Given the description of an element on the screen output the (x, y) to click on. 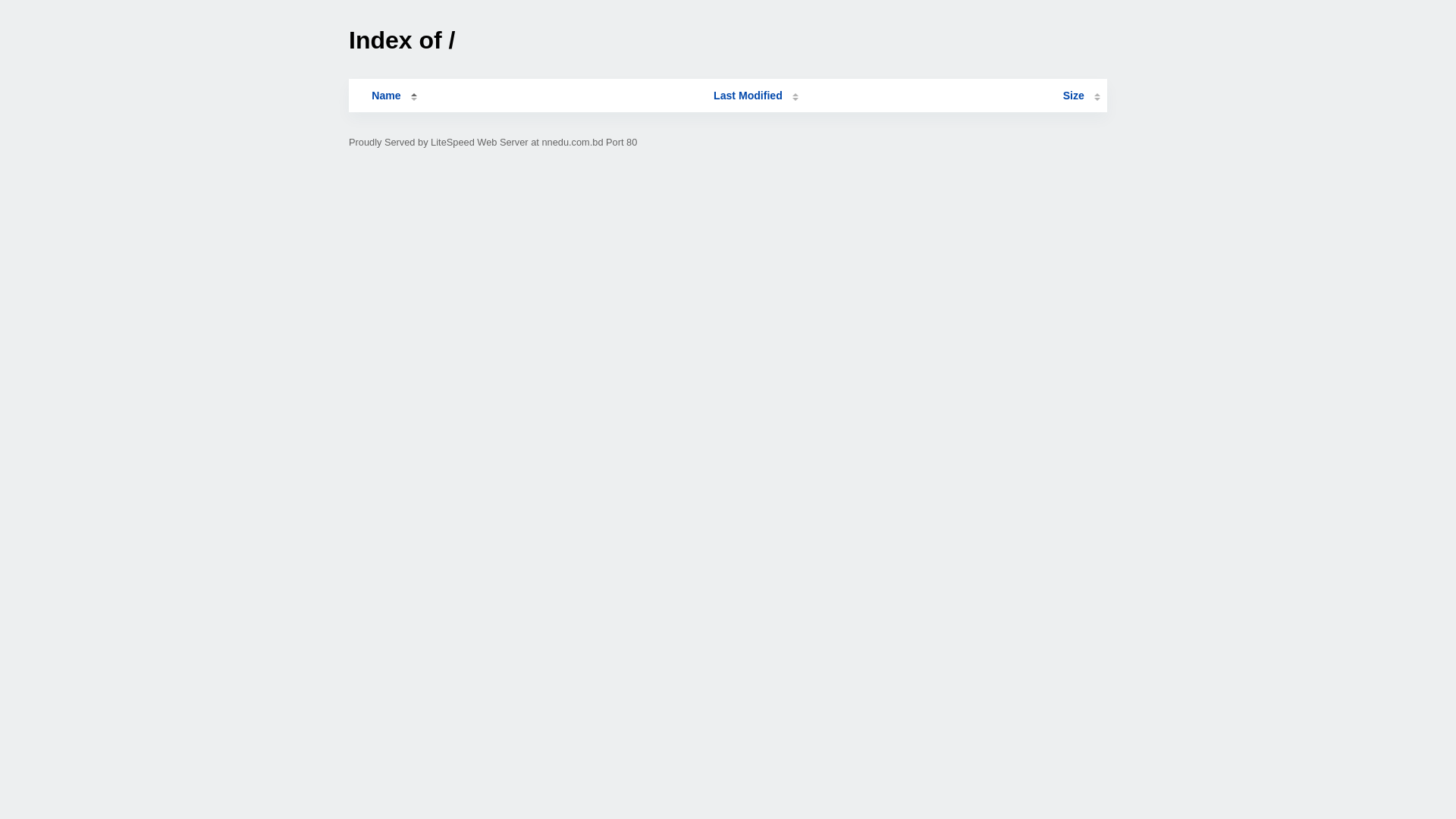
Name Element type: text (385, 95)
Last Modified Element type: text (755, 95)
Size Element type: text (1081, 95)
